Given the description of an element on the screen output the (x, y) to click on. 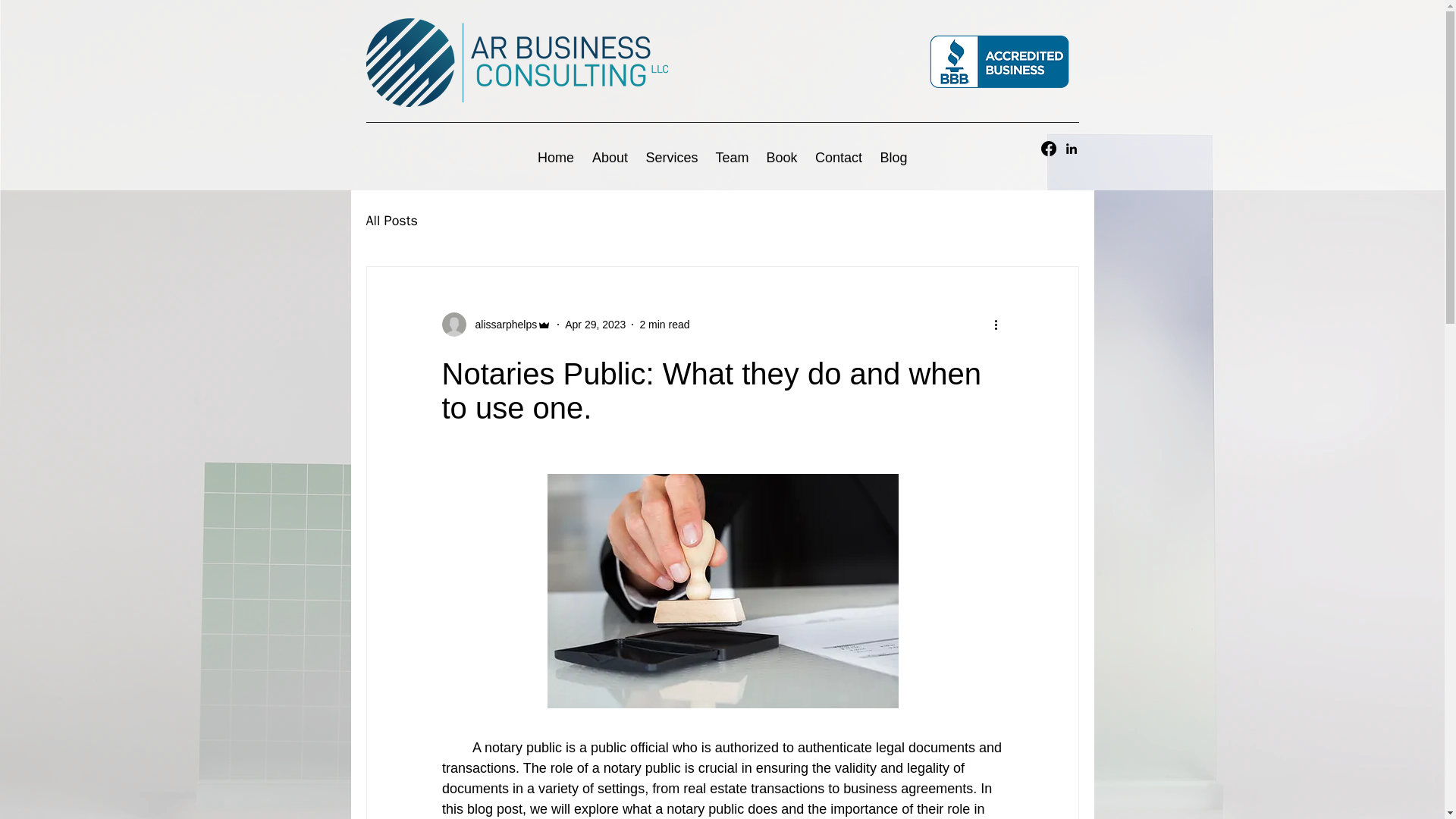
Blog (892, 157)
All Posts (390, 220)
alissarphelps (501, 324)
Home (555, 157)
About (610, 157)
2 min read (663, 324)
Contact (838, 157)
Team (731, 157)
alissarphelps (496, 324)
Book (781, 157)
